Given the description of an element on the screen output the (x, y) to click on. 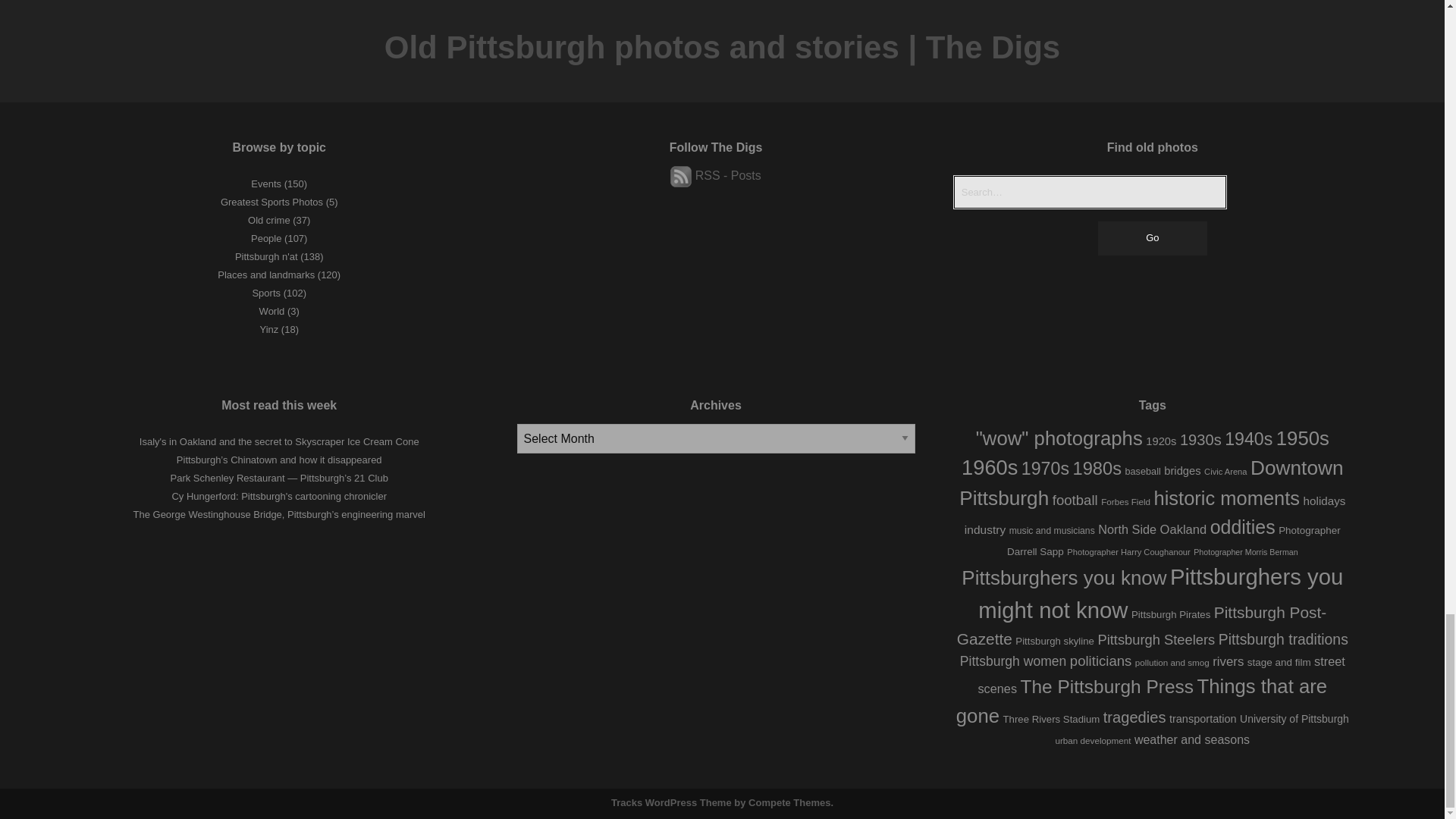
Go (1152, 238)
Go (1152, 238)
